Given the description of an element on the screen output the (x, y) to click on. 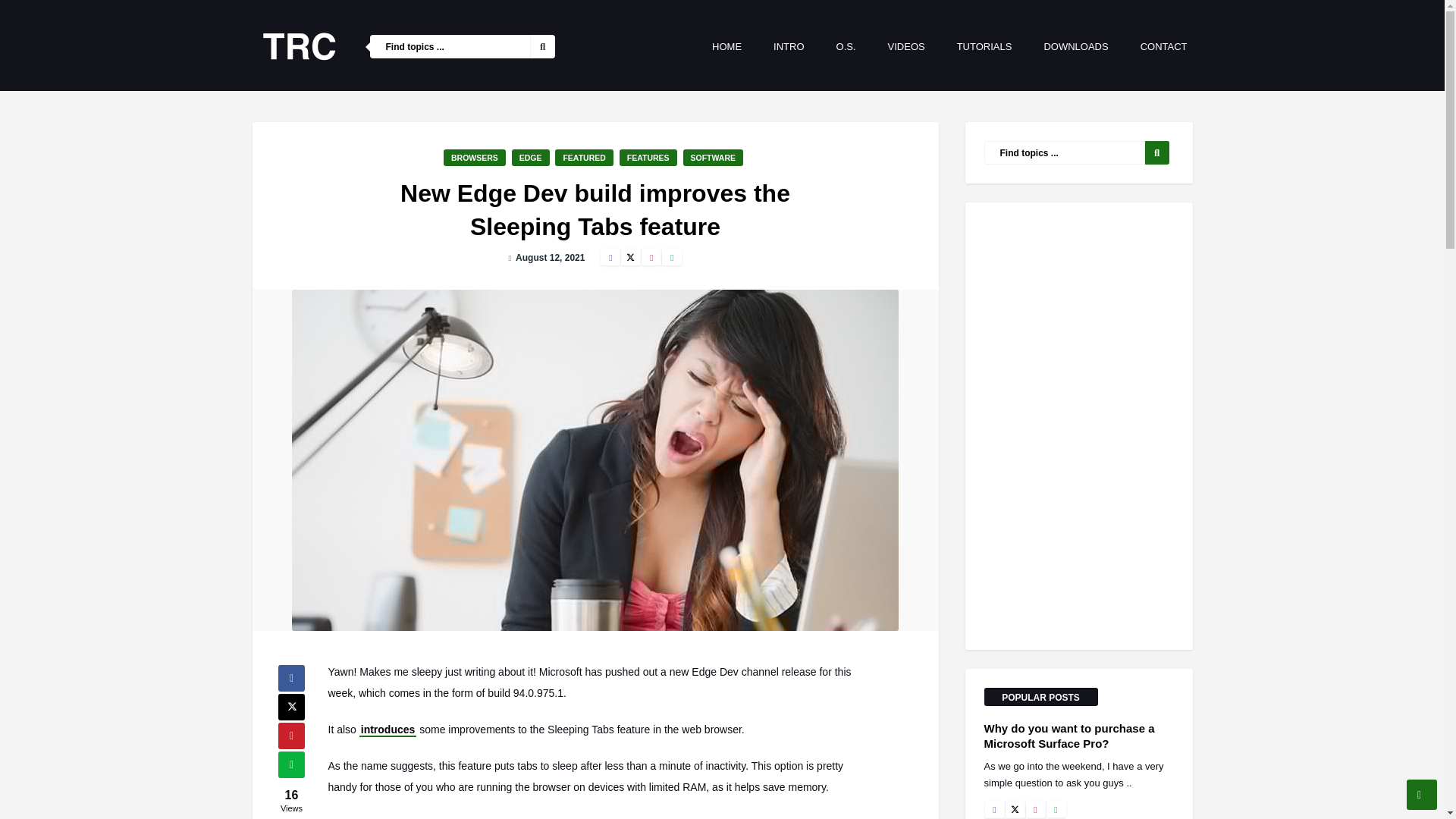
EDGE (531, 157)
BROWSERS (474, 157)
DOWNLOADS (1075, 46)
O.S. (846, 46)
SOFTWARE (712, 157)
FEATURES (648, 157)
FEATURED (583, 157)
INTRO (788, 46)
TUTORIALS (983, 46)
Contact Us (1163, 46)
